Given the description of an element on the screen output the (x, y) to click on. 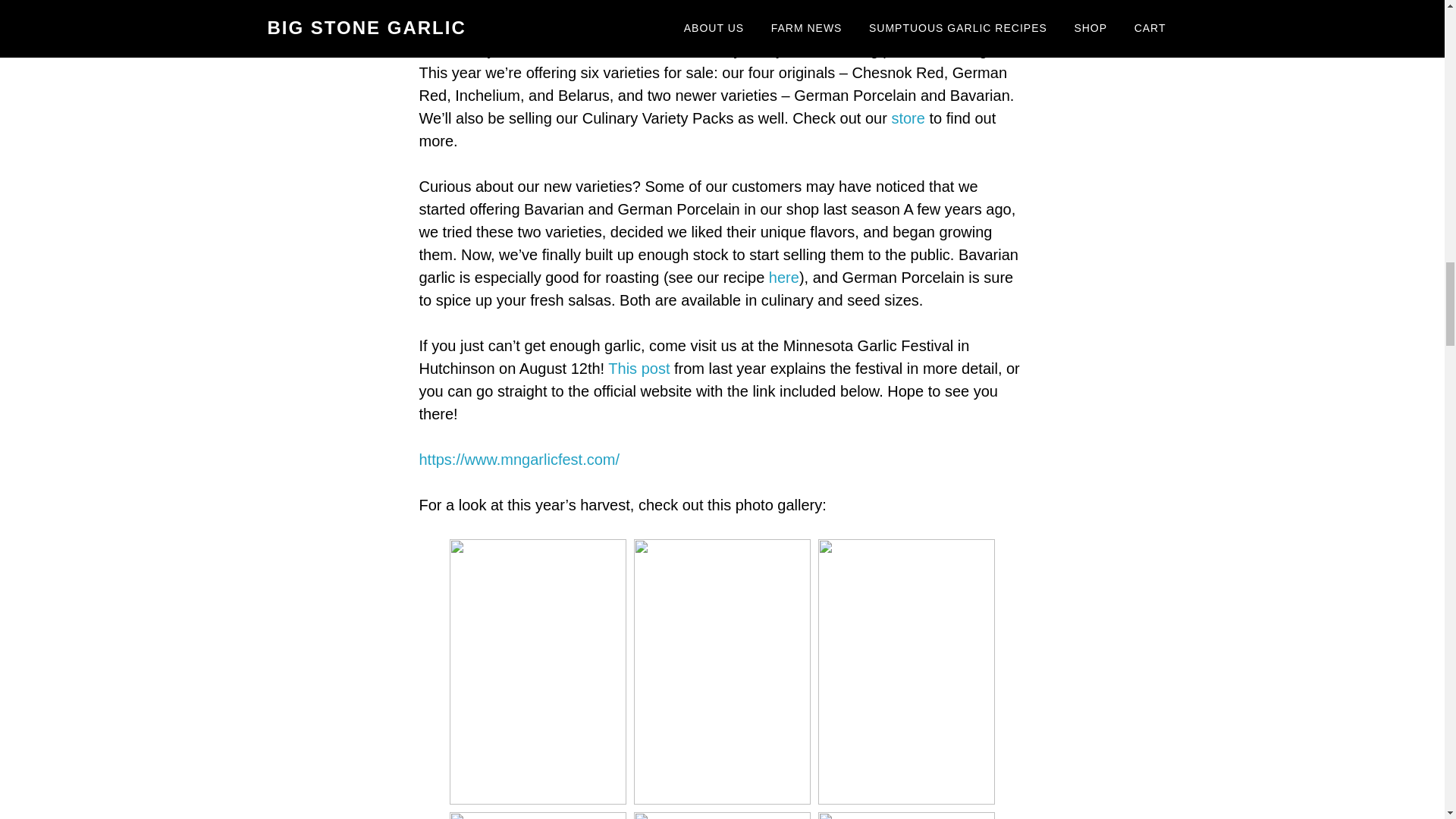
here (783, 277)
This post (641, 368)
store (907, 117)
